Given the description of an element on the screen output the (x, y) to click on. 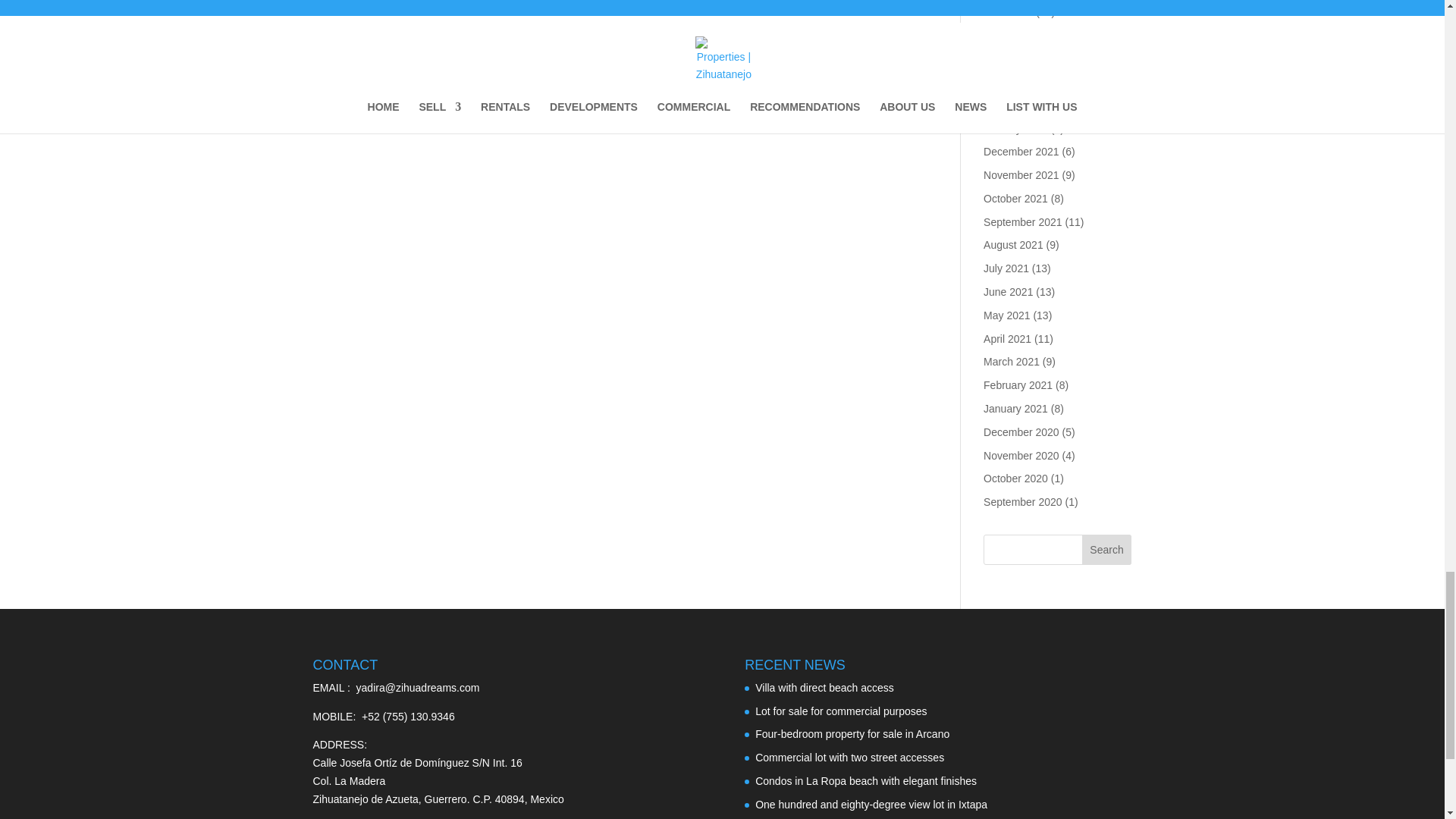
Search (1106, 549)
